Given the description of an element on the screen output the (x, y) to click on. 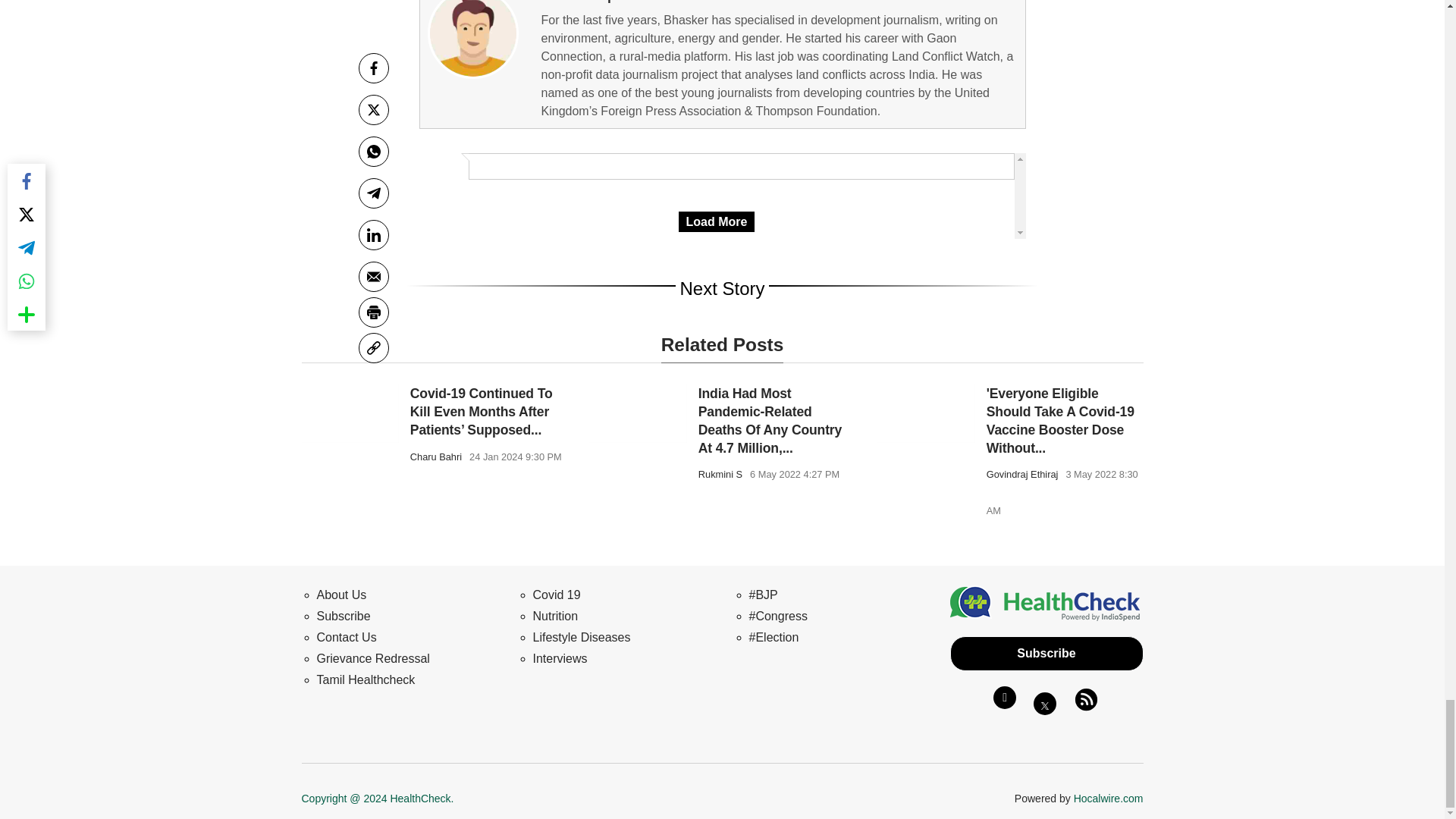
Bhasker Tripathi (473, 39)
